Given the description of an element on the screen output the (x, y) to click on. 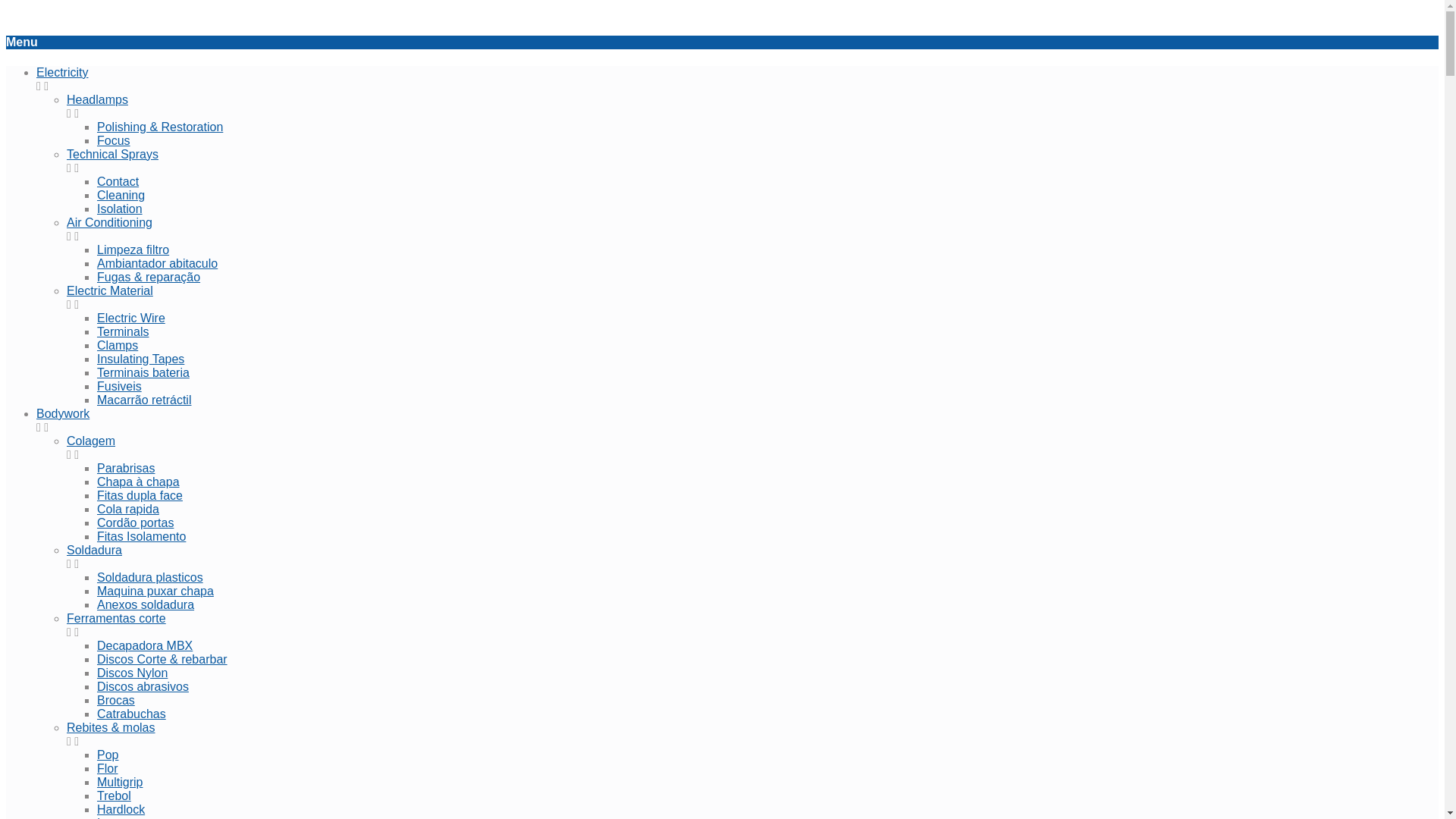
Maquina puxar chapa Element type: text (155, 590)
Soldadura plasticos Element type: text (150, 577)
Parabrisas Element type: text (125, 467)
Isolation Element type: text (119, 208)
Bodywork Element type: text (62, 413)
Electric Material Element type: text (109, 290)
Discos abrasivos Element type: text (142, 686)
Limpeza filtro Element type: text (133, 249)
Ferramentas corte Element type: text (116, 617)
Colagem Element type: text (90, 440)
Rebites & molas Element type: text (110, 727)
Terminals Element type: text (122, 331)
Contact Element type: text (117, 181)
Discos Corte & rebarbar Element type: text (162, 658)
Headlamps Element type: text (97, 99)
Electric Wire Element type: text (131, 317)
Clamps Element type: text (117, 344)
Insulating Tapes Element type: text (140, 358)
Focus Element type: text (113, 140)
Trebol Element type: text (114, 795)
Polishing & Restoration Element type: text (159, 126)
Fusiveis Element type: text (119, 385)
Ambiantador abitaculo Element type: text (157, 263)
Brocas Element type: text (115, 699)
Catrabuchas Element type: text (131, 713)
Soldadura Element type: text (94, 549)
Multigrip Element type: text (119, 781)
Decapadora MBX Element type: text (144, 645)
Electricity Element type: text (61, 71)
Fitas Isolamento Element type: text (141, 536)
Air Conditioning Element type: text (109, 222)
Hardlock Element type: text (120, 809)
Fitas dupla face Element type: text (139, 495)
Discos Nylon Element type: text (132, 672)
Technical Sprays Element type: text (112, 153)
Flor Element type: text (107, 768)
Cleaning Element type: text (120, 194)
Pop Element type: text (107, 754)
Terminais bateria Element type: text (143, 372)
Anexos soldadura Element type: text (145, 604)
Cola rapida Element type: text (128, 508)
